Given the description of an element on the screen output the (x, y) to click on. 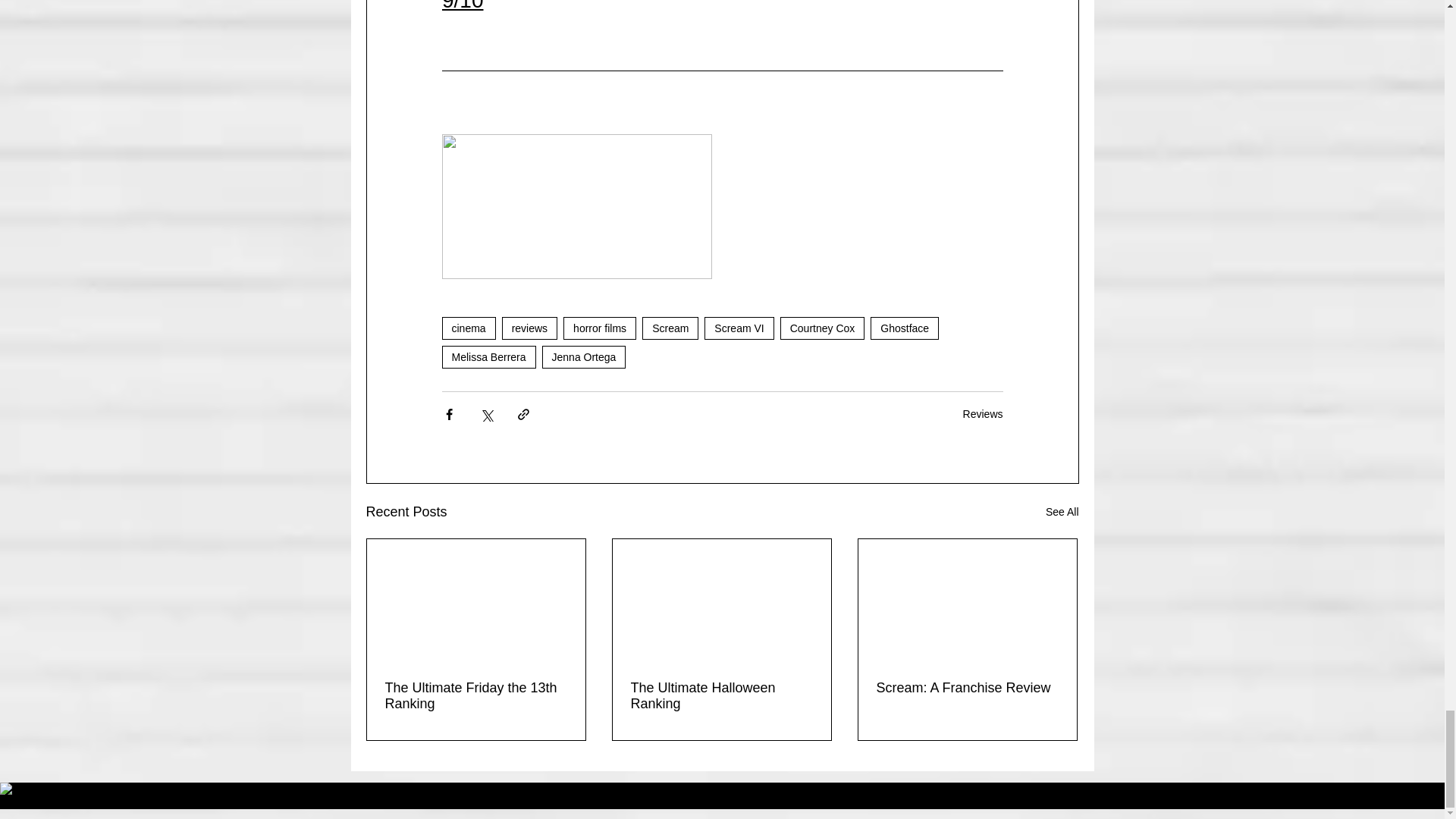
Jenna Ortega (583, 356)
The Ultimate Halloween Ranking (721, 695)
See All (1061, 512)
Scream (670, 327)
Courtney Cox (822, 327)
Melissa Berrera (488, 356)
reviews (529, 327)
Ghostface (904, 327)
The Ultimate Friday the 13th Ranking (476, 695)
horror films (599, 327)
